Given the description of an element on the screen output the (x, y) to click on. 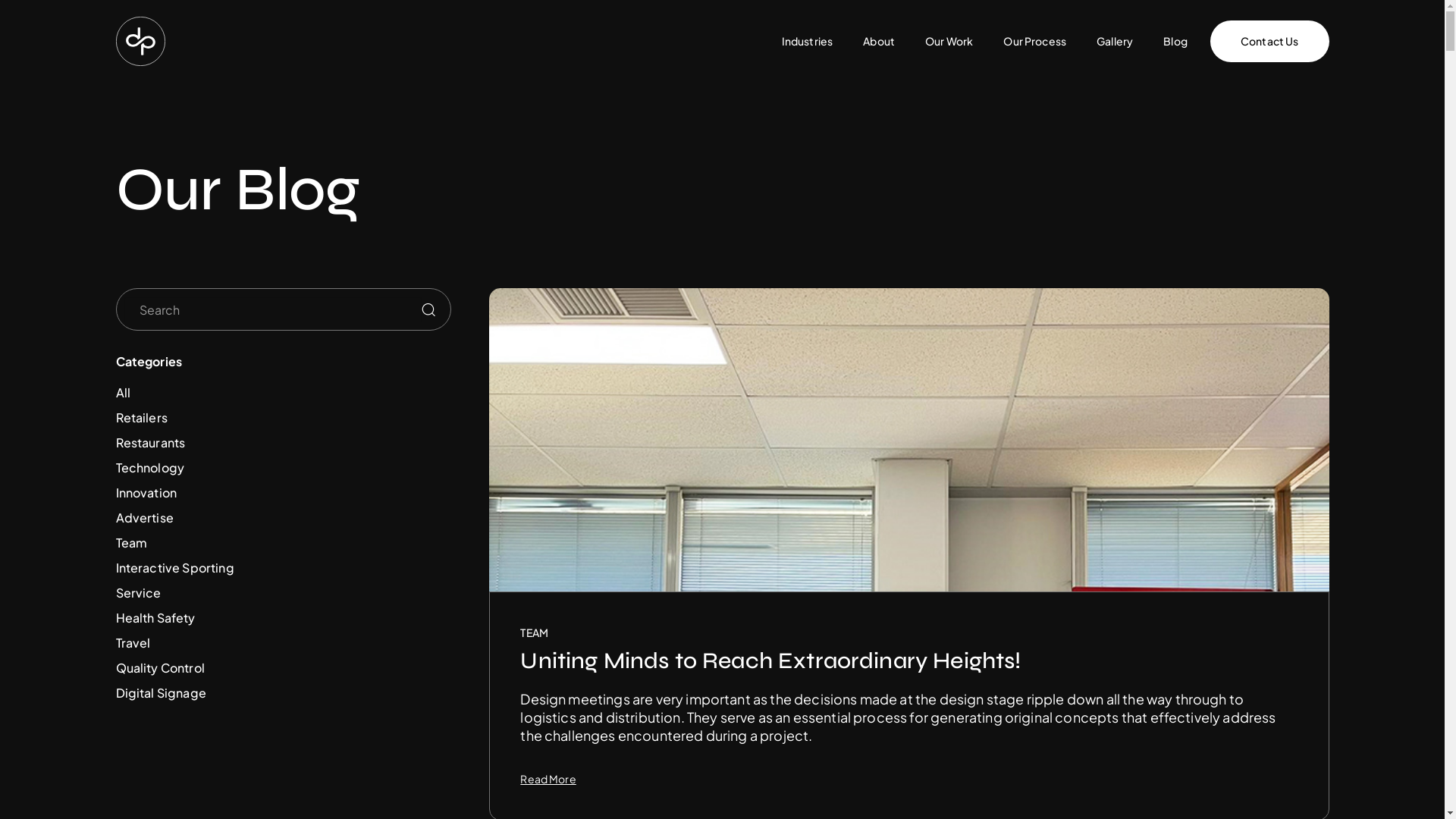
Read More Element type: text (547, 778)
Our Process Element type: text (1034, 41)
Industries Element type: text (807, 41)
Blog Element type: text (1175, 41)
Uniting Minds to Reach Extraordinary Heights! Element type: text (908, 660)
Contact Us Element type: text (1269, 41)
Gallery Element type: text (1114, 41)
About Element type: text (878, 41)
Our Work Element type: text (949, 41)
